Given the description of an element on the screen output the (x, y) to click on. 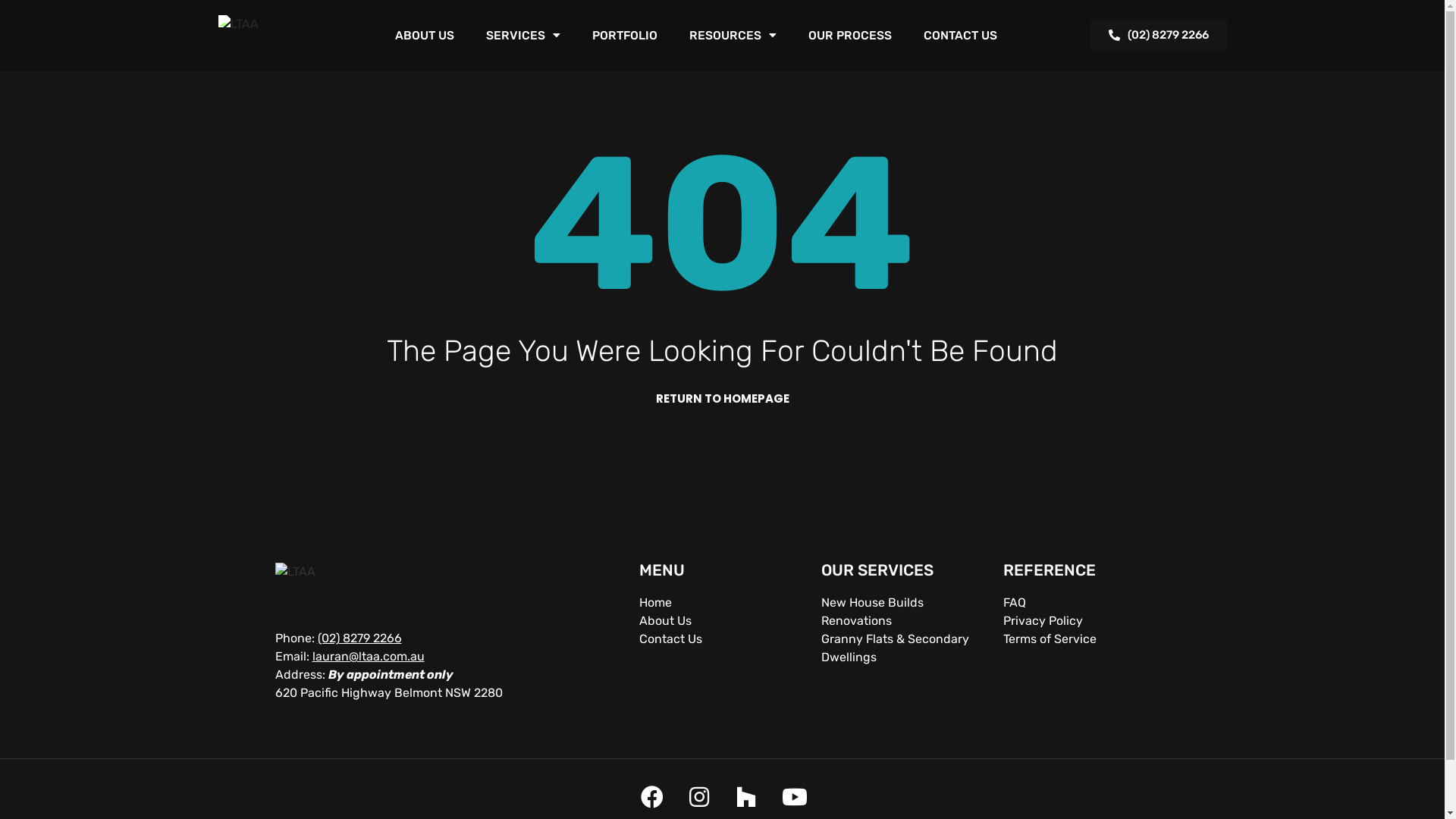
SERVICES Element type: text (522, 35)
OUR PROCESS Element type: text (849, 35)
RETURN TO HOMEPAGE Element type: text (721, 398)
lauran@ltaa.com.au Element type: text (368, 656)
Privacy Policy Element type: text (1085, 620)
RESOURCES Element type: text (731, 35)
Granny Flats & Secondary Dwellings Element type: text (903, 648)
Renovations Element type: text (903, 620)
PORTFOLIO Element type: text (623, 35)
FAQ Element type: text (1085, 602)
Home Element type: text (721, 602)
Contact Us Element type: text (721, 639)
About Us Element type: text (721, 620)
ABOUT US Element type: text (423, 35)
Terms of Service Element type: text (1085, 639)
(02) 8279 2266 Element type: text (1158, 35)
(02) 8279 2266 Element type: text (358, 637)
CONTACT US Element type: text (960, 35)
New House Builds Element type: text (903, 602)
